Given the description of an element on the screen output the (x, y) to click on. 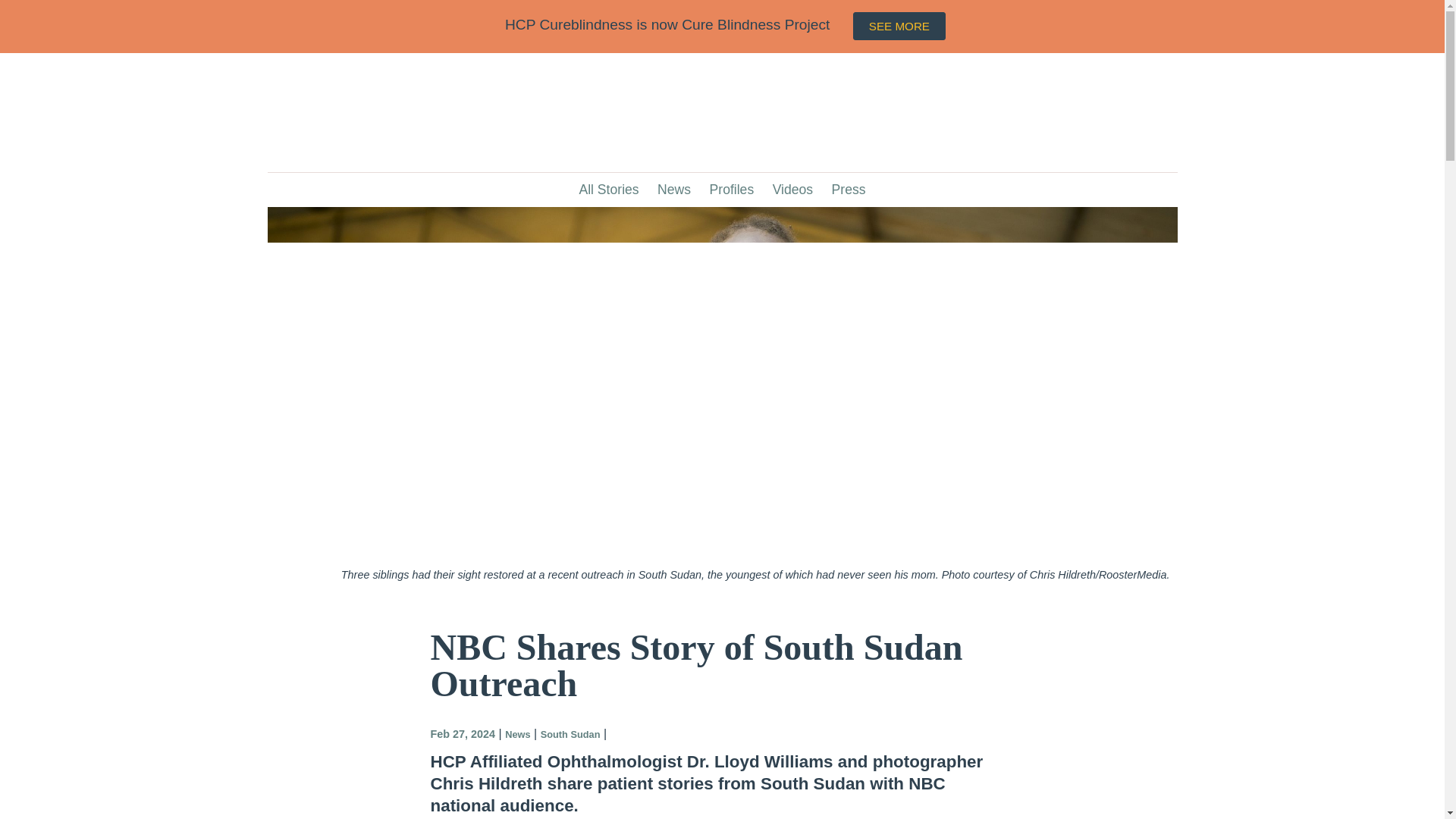
Latest (927, 37)
All Stories (608, 189)
Newsreel (987, 37)
Why Blindness? (706, 37)
News (673, 189)
Profiles (731, 189)
SEE MORE (898, 26)
DONATE (1114, 34)
Videos (793, 189)
About Us (866, 37)
Our Work (795, 37)
HCP Cureblindness (344, 35)
